Given the description of an element on the screen output the (x, y) to click on. 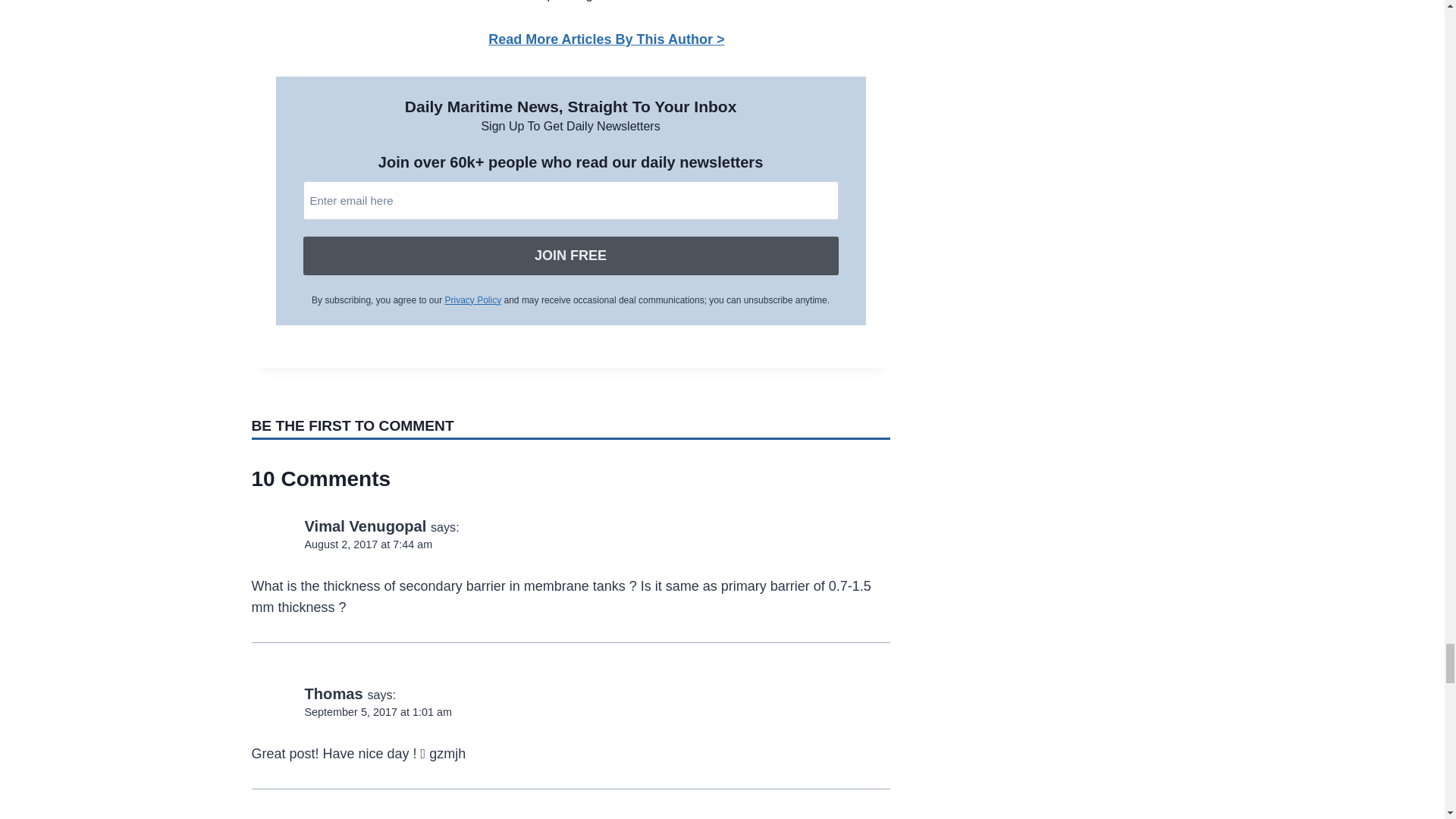
Join Free (570, 255)
